Given the description of an element on the screen output the (x, y) to click on. 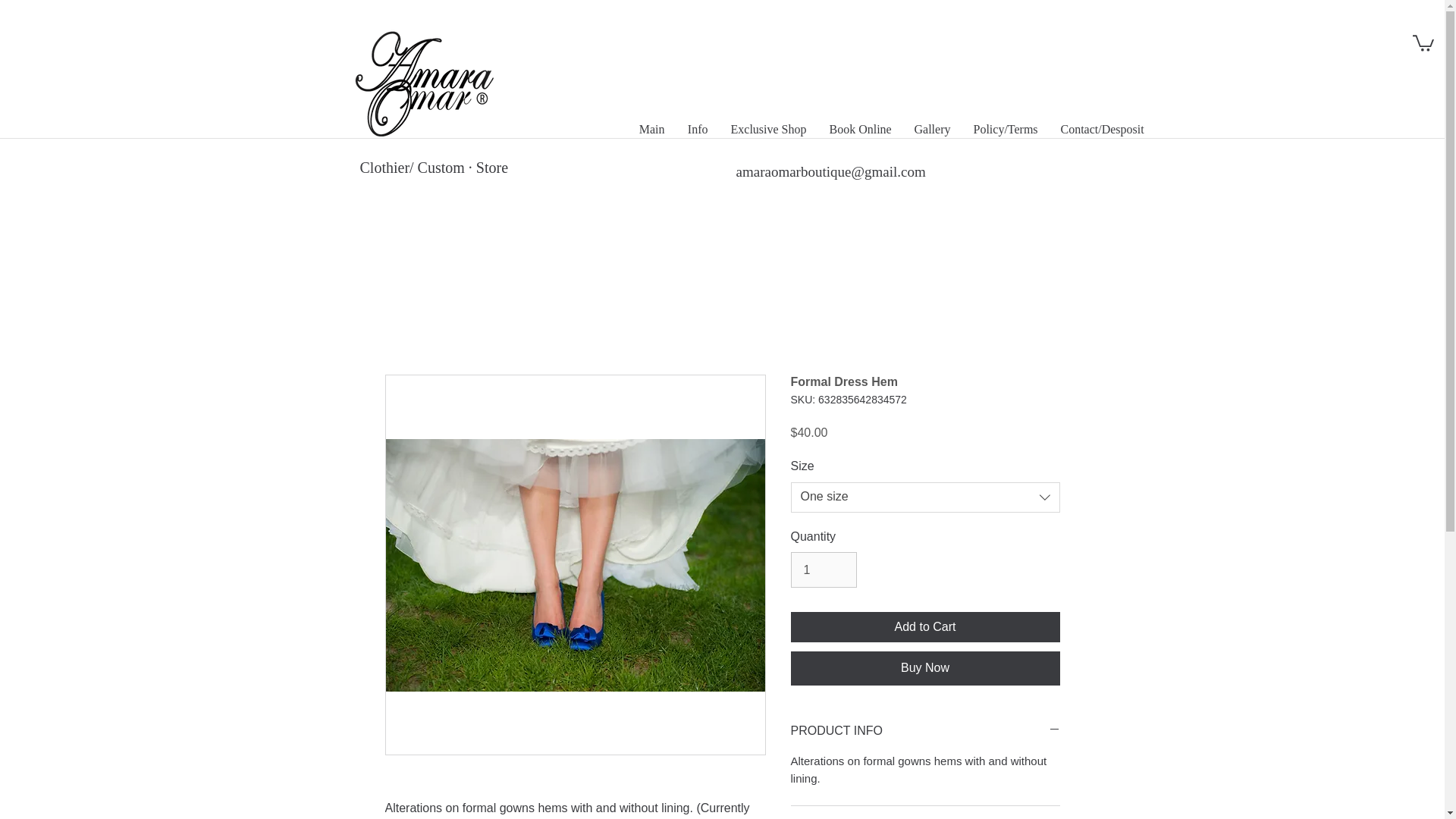
PRODUCT INFO (924, 731)
Add to Cart (924, 626)
1 (823, 569)
Exclusive Shop (767, 128)
Book Online (859, 128)
Gallery (931, 128)
Main (652, 128)
One size (924, 497)
Buy Now (924, 668)
